Given the description of an element on the screen output the (x, y) to click on. 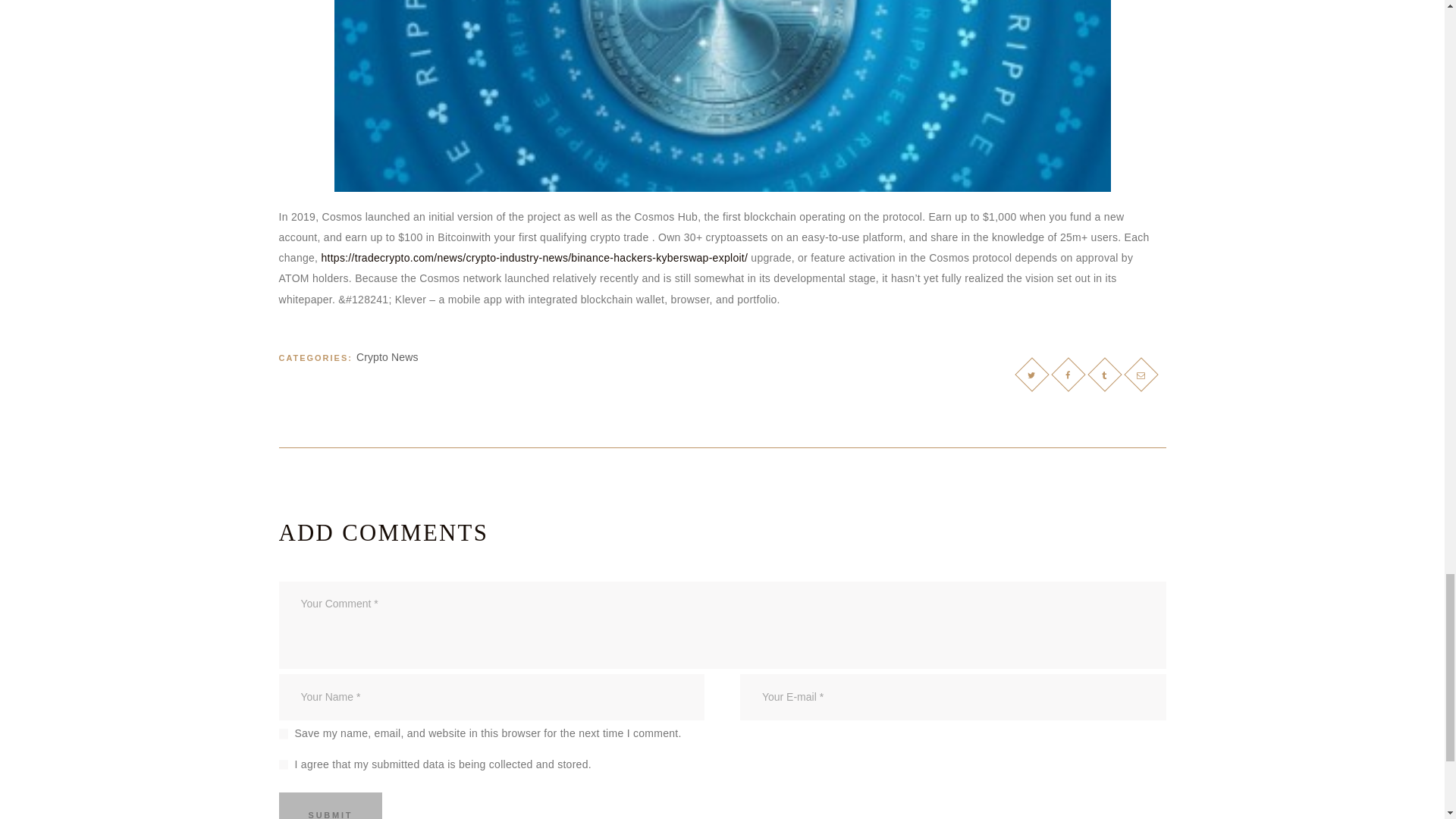
Submit (330, 805)
Crypto News (387, 357)
